Given the description of an element on the screen output the (x, y) to click on. 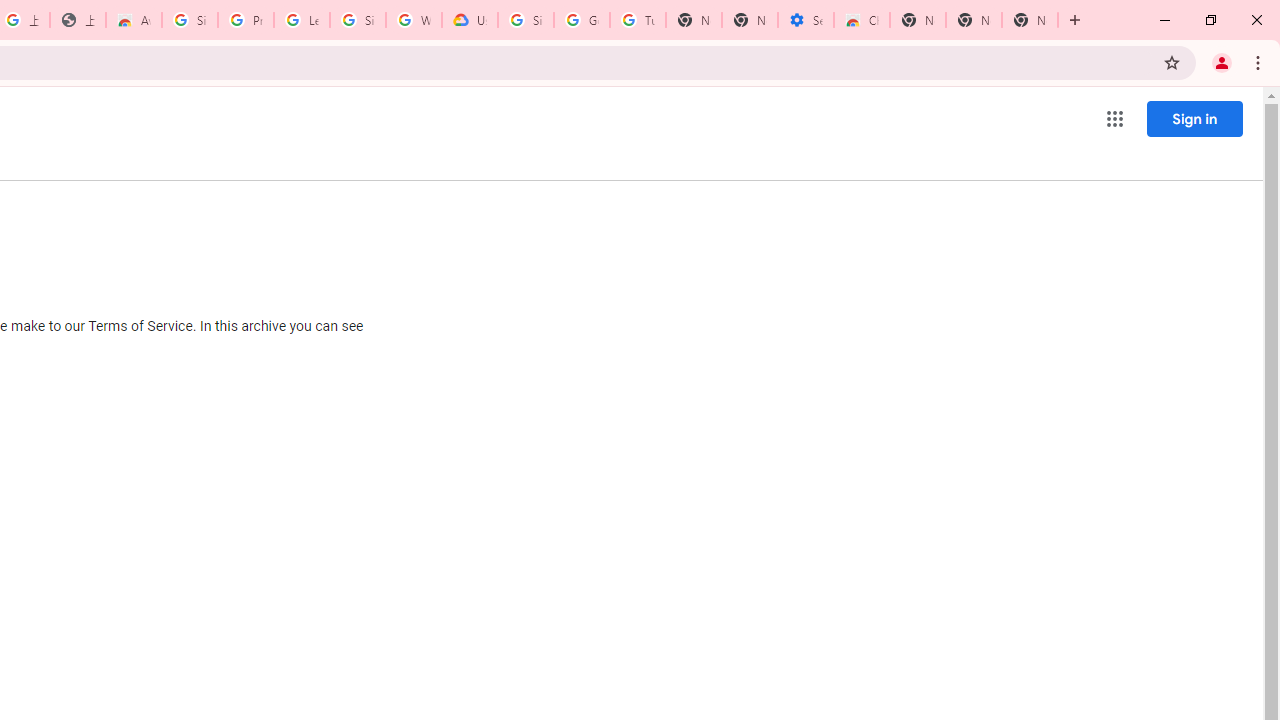
Settings - Accessibility (806, 20)
New Tab (917, 20)
Who are Google's partners? - Privacy and conditions - Google (413, 20)
Sign in - Google Accounts (358, 20)
